Given the description of an element on the screen output the (x, y) to click on. 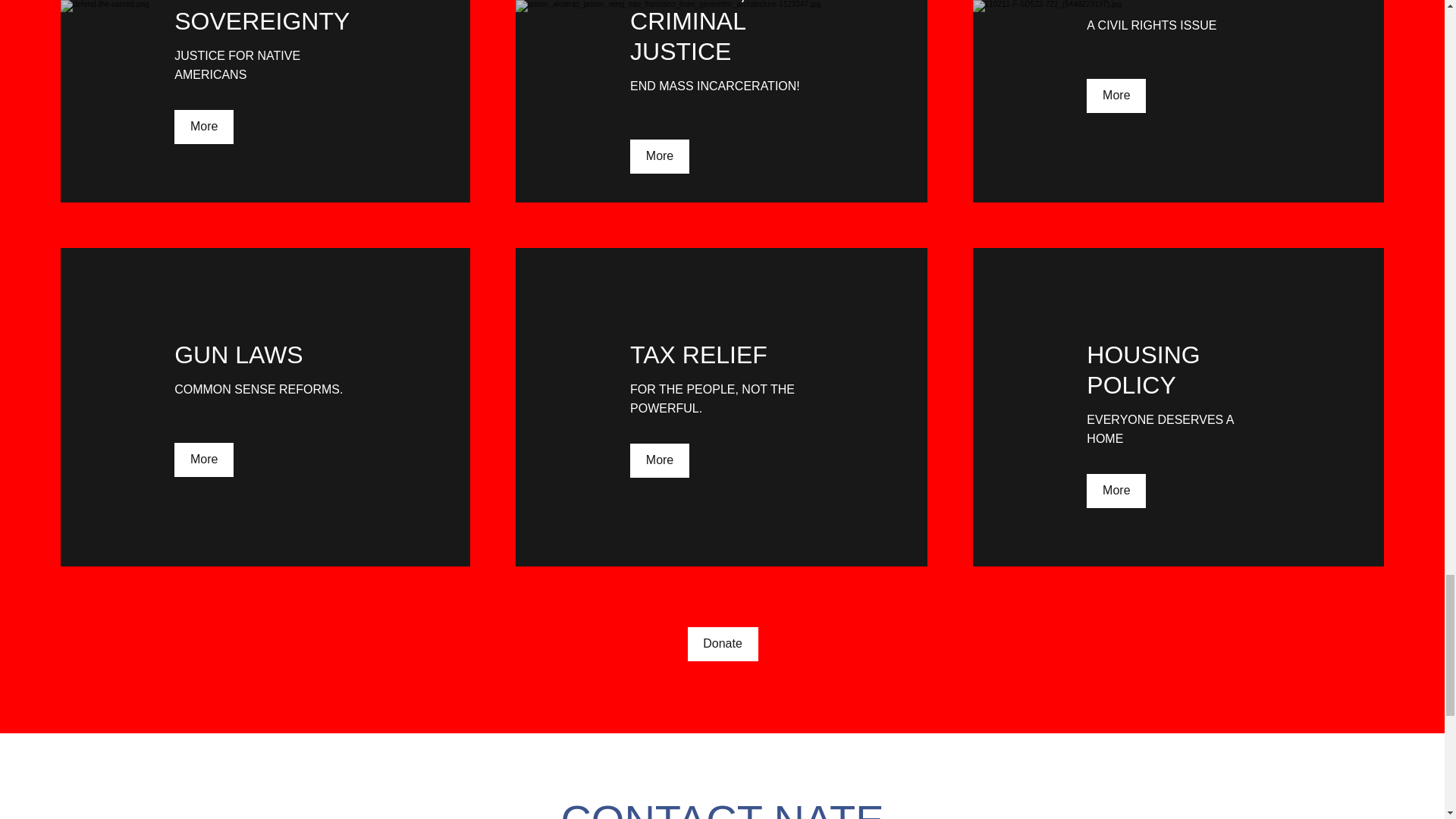
More (1115, 95)
Donate (722, 643)
More (659, 460)
More (203, 126)
More (1115, 490)
More (659, 156)
More (203, 459)
